Given the description of an element on the screen output the (x, y) to click on. 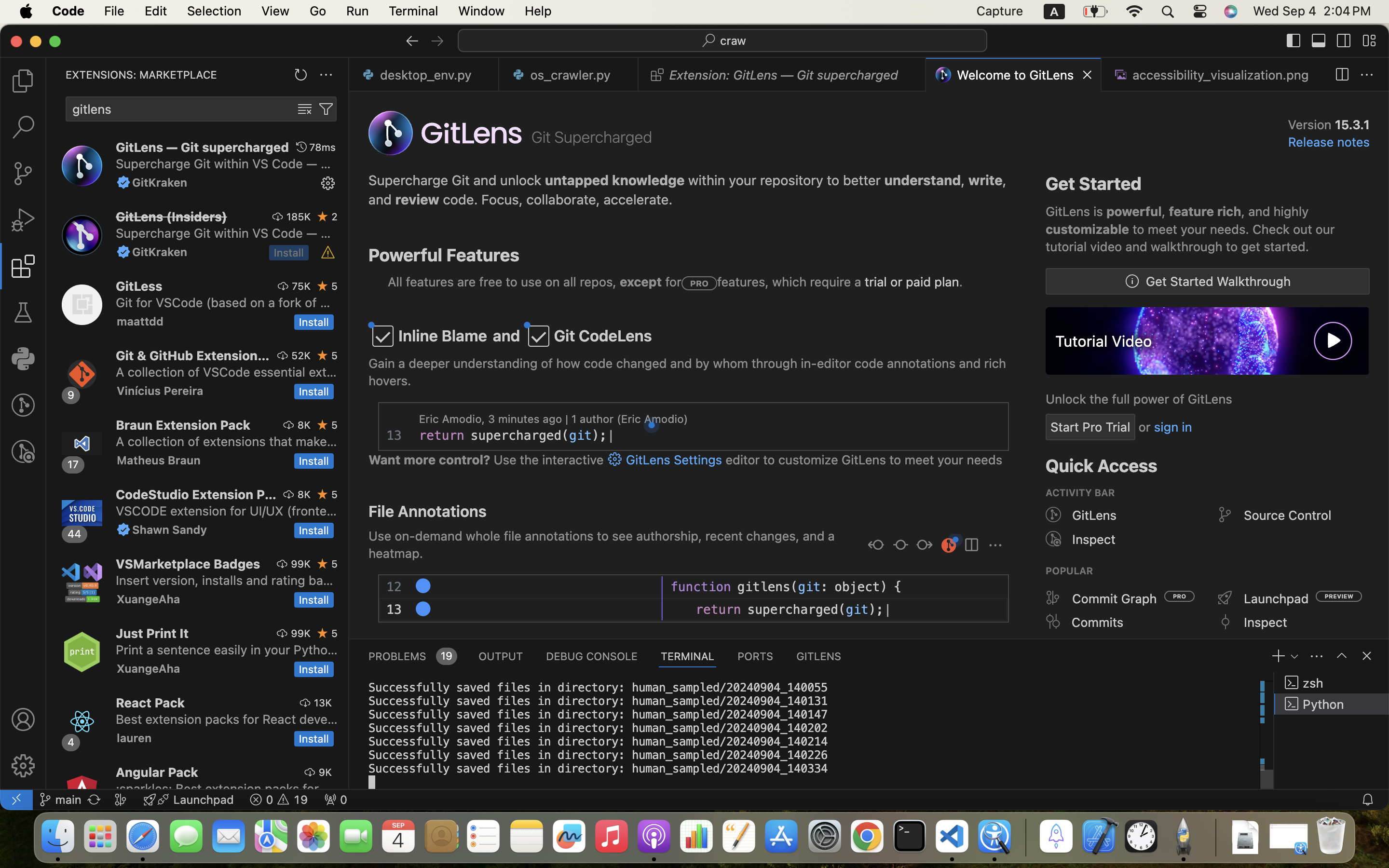
 0 Element type: AXButton (335, 799)
craw Element type: AXStaticText (733, 40)
 Element type: AXStaticText (971, 545)
0 OUTPUT Element type: AXRadioButton (500, 655)
0 PROBLEMS 19 Element type: AXRadioButton (411, 655)
